Given the description of an element on the screen output the (x, y) to click on. 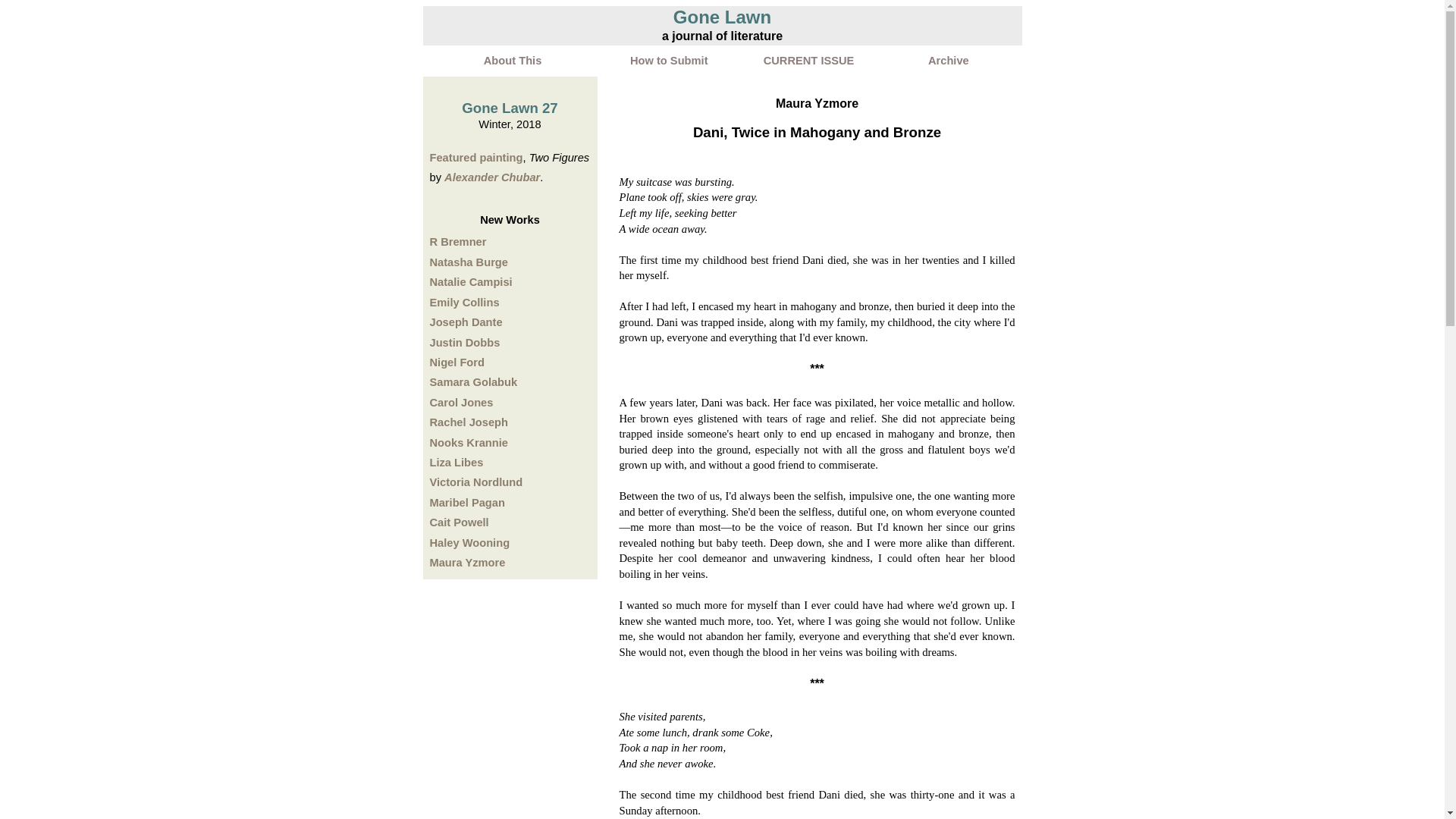
Joseph Dante (465, 322)
Alexander Chubar (492, 177)
Nigel Ford (456, 362)
Archive (947, 60)
Samara Golabuk (472, 381)
Natasha Burge (467, 262)
Justin Dobbs (464, 342)
Emily Collins (464, 302)
Haley Wooning (469, 542)
Rachel Joseph (467, 422)
